Given the description of an element on the screen output the (x, y) to click on. 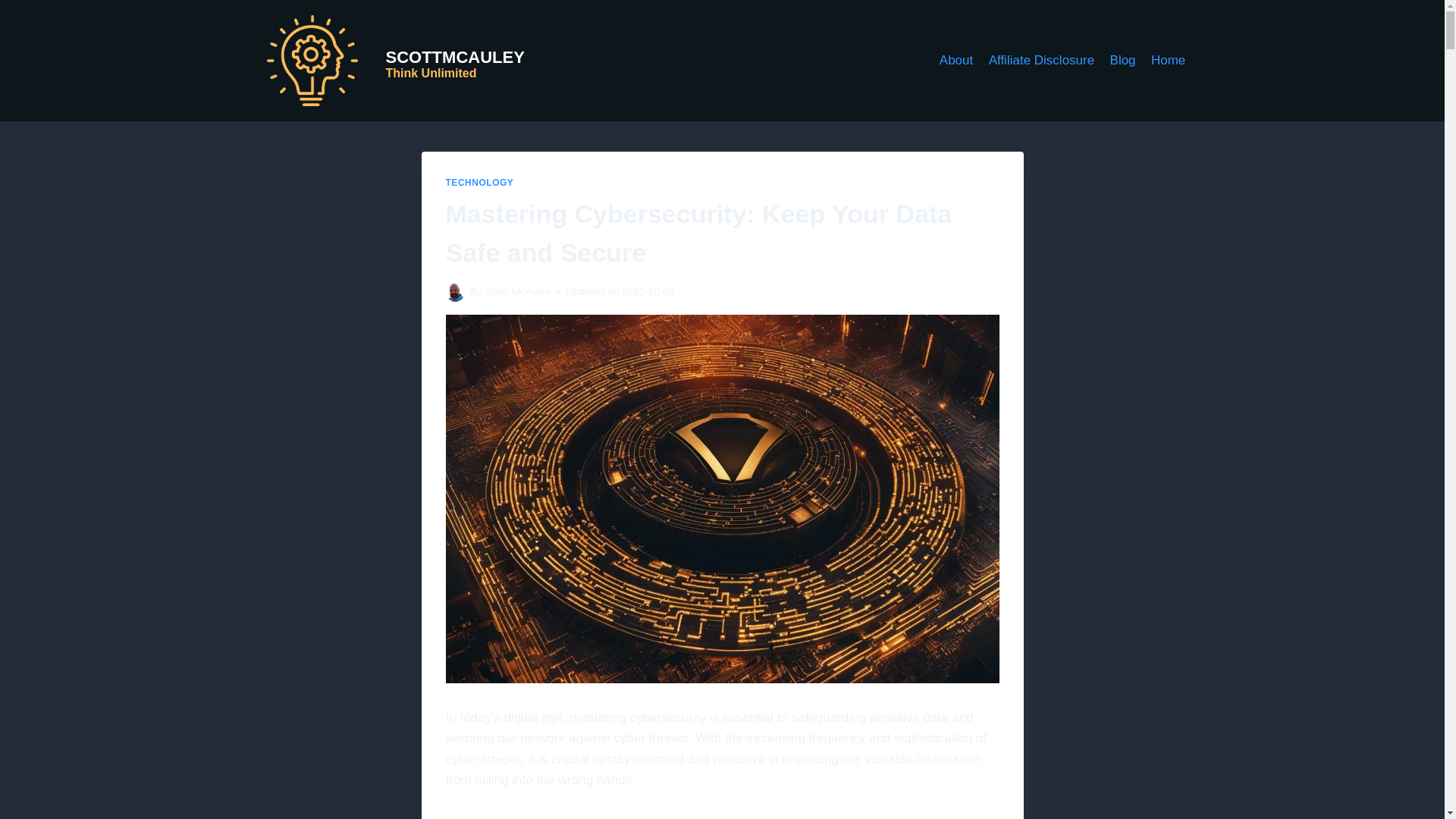
TECHNOLOGY (479, 182)
Blog (387, 60)
Scott McAuley (1122, 60)
Affiliate Disclosure (517, 291)
About (1040, 60)
Home (956, 60)
